Given the description of an element on the screen output the (x, y) to click on. 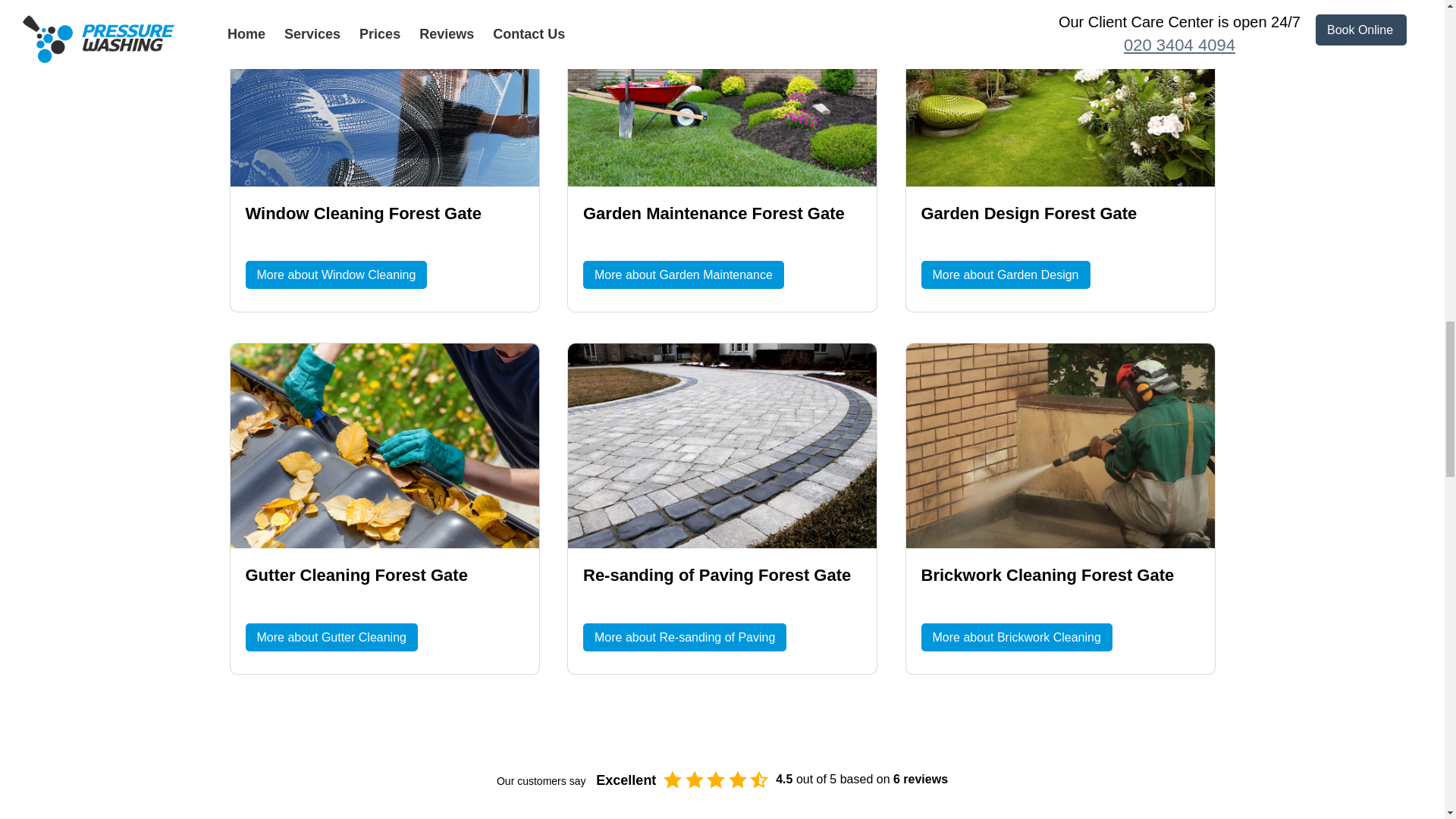
More about Garden Design (1004, 275)
More about Garden Maintenance (683, 275)
More about Gutter Cleaning (331, 637)
More about Re-sanding of Paving (684, 637)
More about Window Cleaning (337, 275)
More about Brickwork Cleaning (1016, 637)
